Given the description of an element on the screen output the (x, y) to click on. 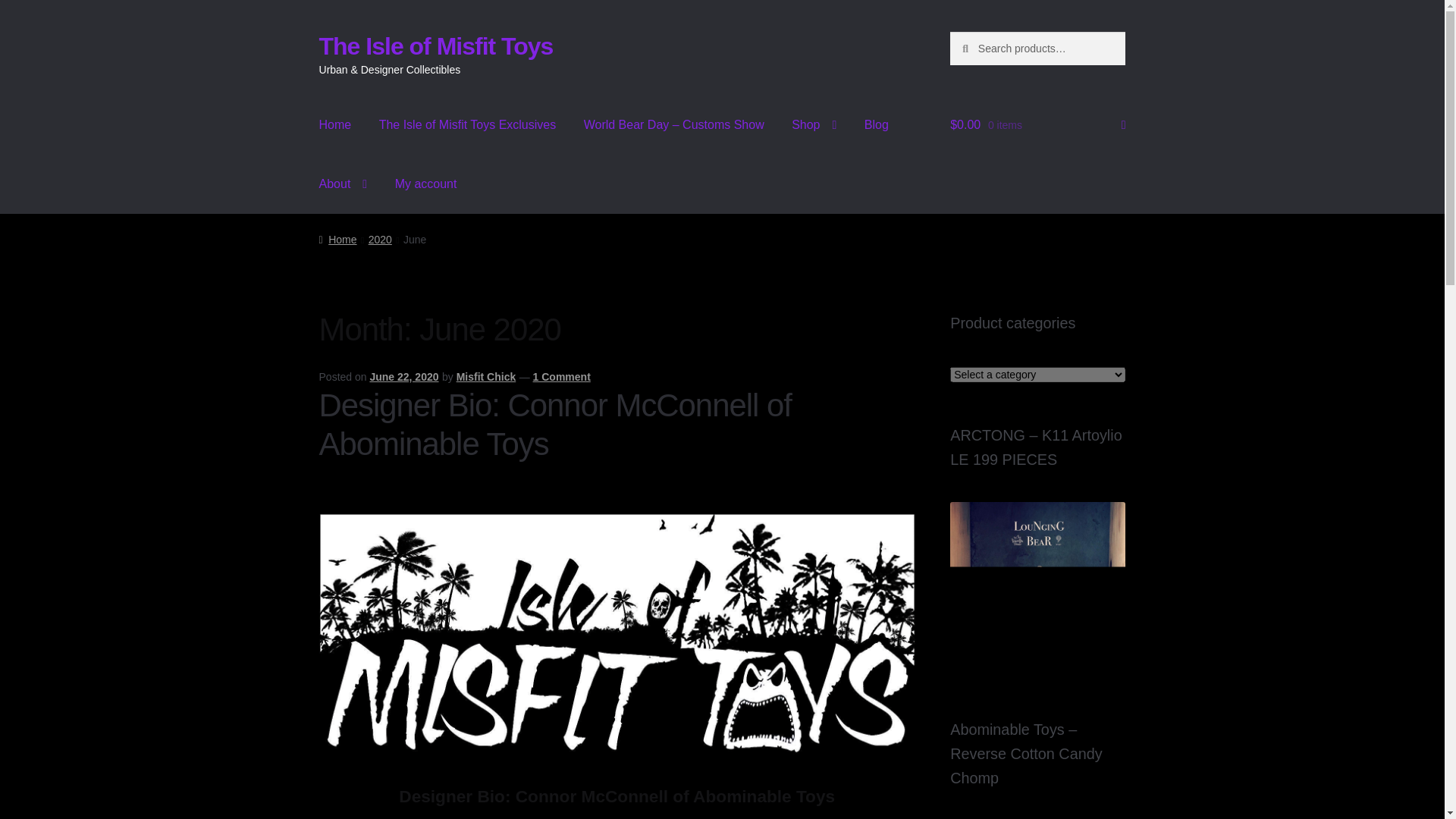
Home (335, 124)
View your shopping cart (1037, 124)
Shop (813, 124)
The Isle of Misfit Toys (435, 45)
The Isle of Misfit Toys Exclusives (467, 124)
